Given the description of an element on the screen output the (x, y) to click on. 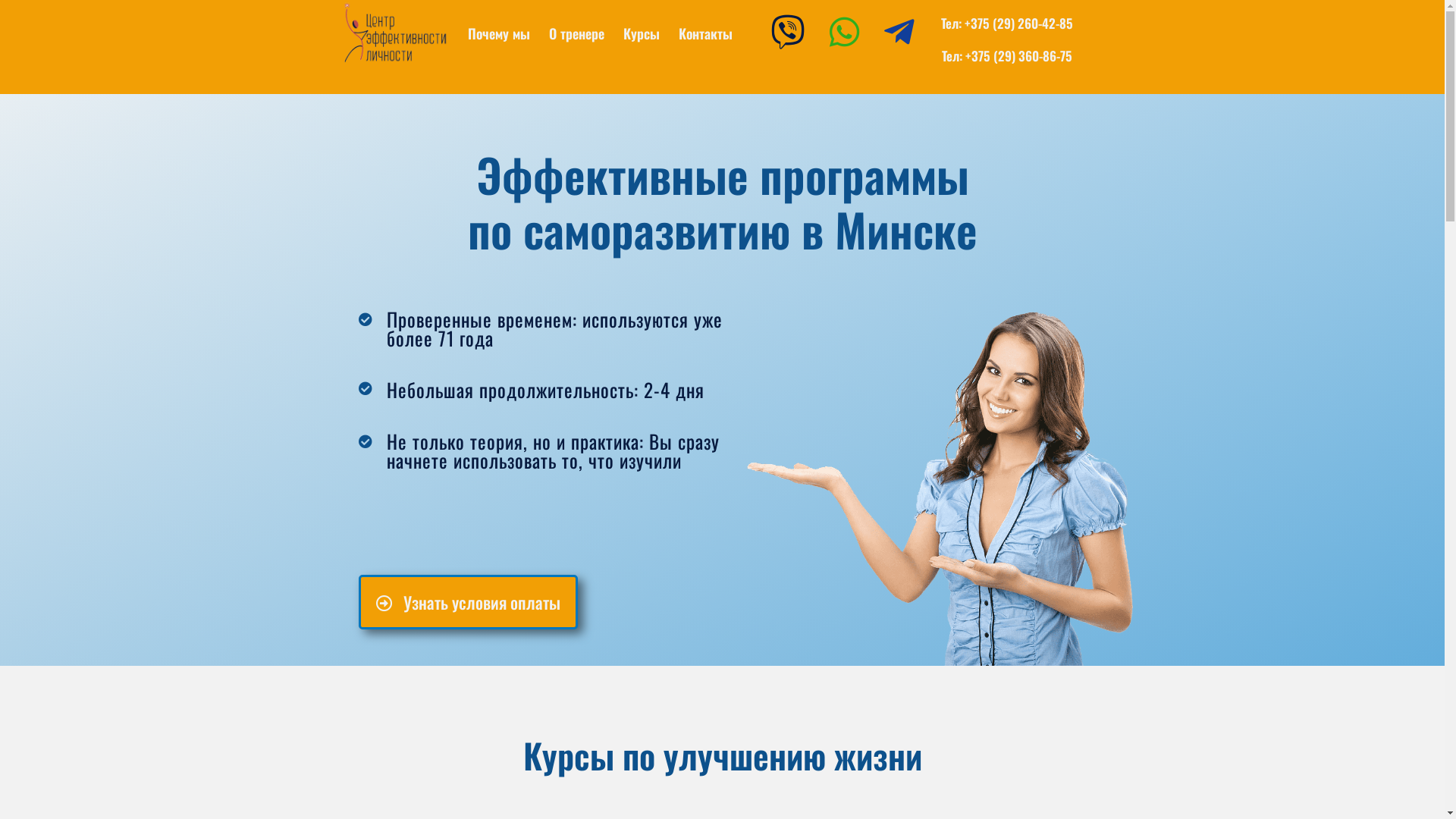
+375 (29) 360-86-75 Element type: text (1018, 54)
+375 (29) 260-42-85 Element type: text (1018, 22)
